Given the description of an element on the screen output the (x, y) to click on. 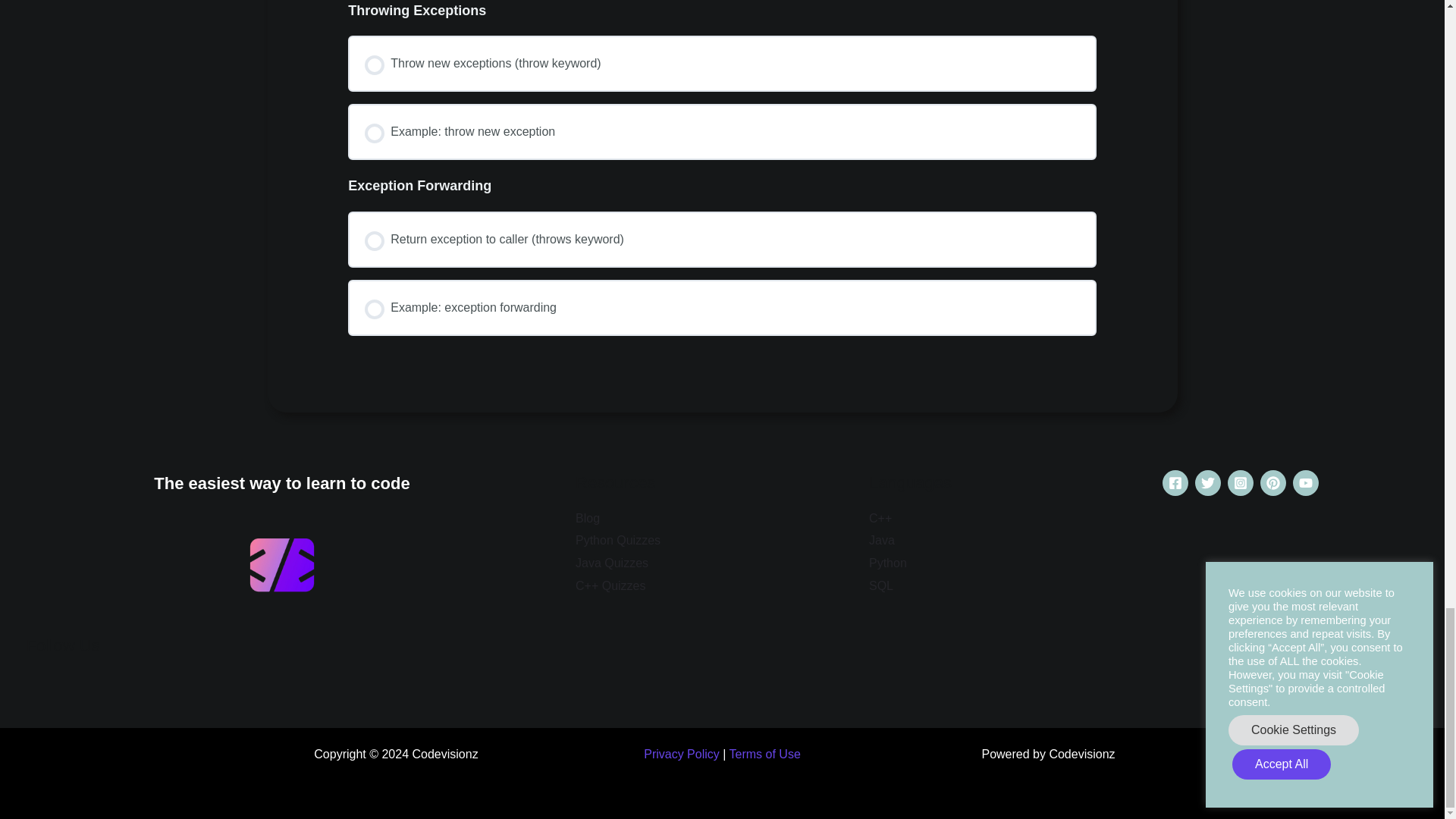
Example: throw new exception (722, 131)
Example: exception forwarding (722, 307)
